Given the description of an element on the screen output the (x, y) to click on. 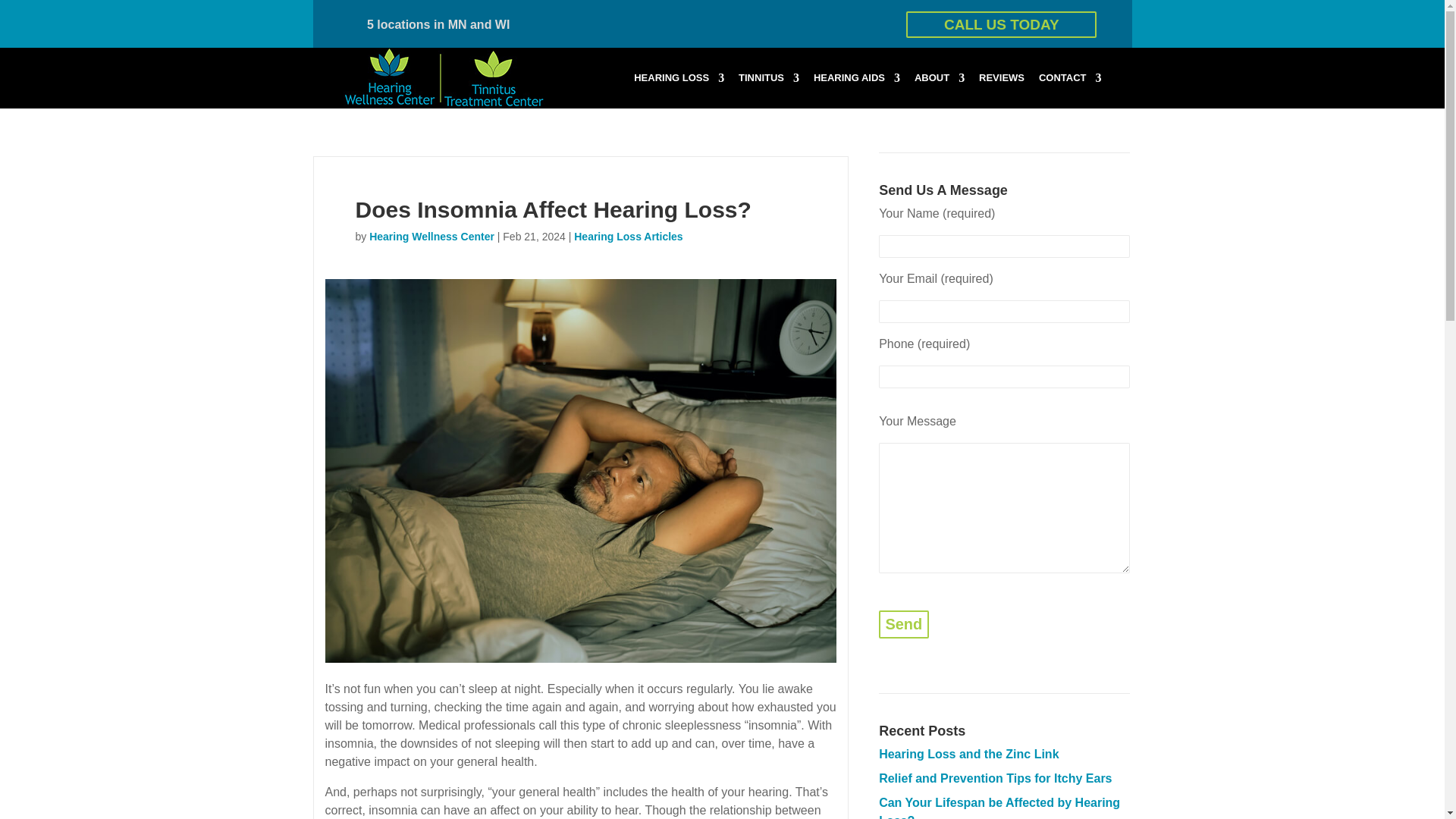
REVIEWS (1001, 90)
TINNITUS (768, 90)
HEARING AIDS (856, 90)
HEARING LOSS (678, 90)
CONTACT (1070, 90)
ABOUT (938, 90)
CALL US TODAY (1000, 24)
Posts by Hearing Wellness Center (432, 237)
5 locations in MN and WI (437, 24)
Send (903, 624)
